Given the description of an element on the screen output the (x, y) to click on. 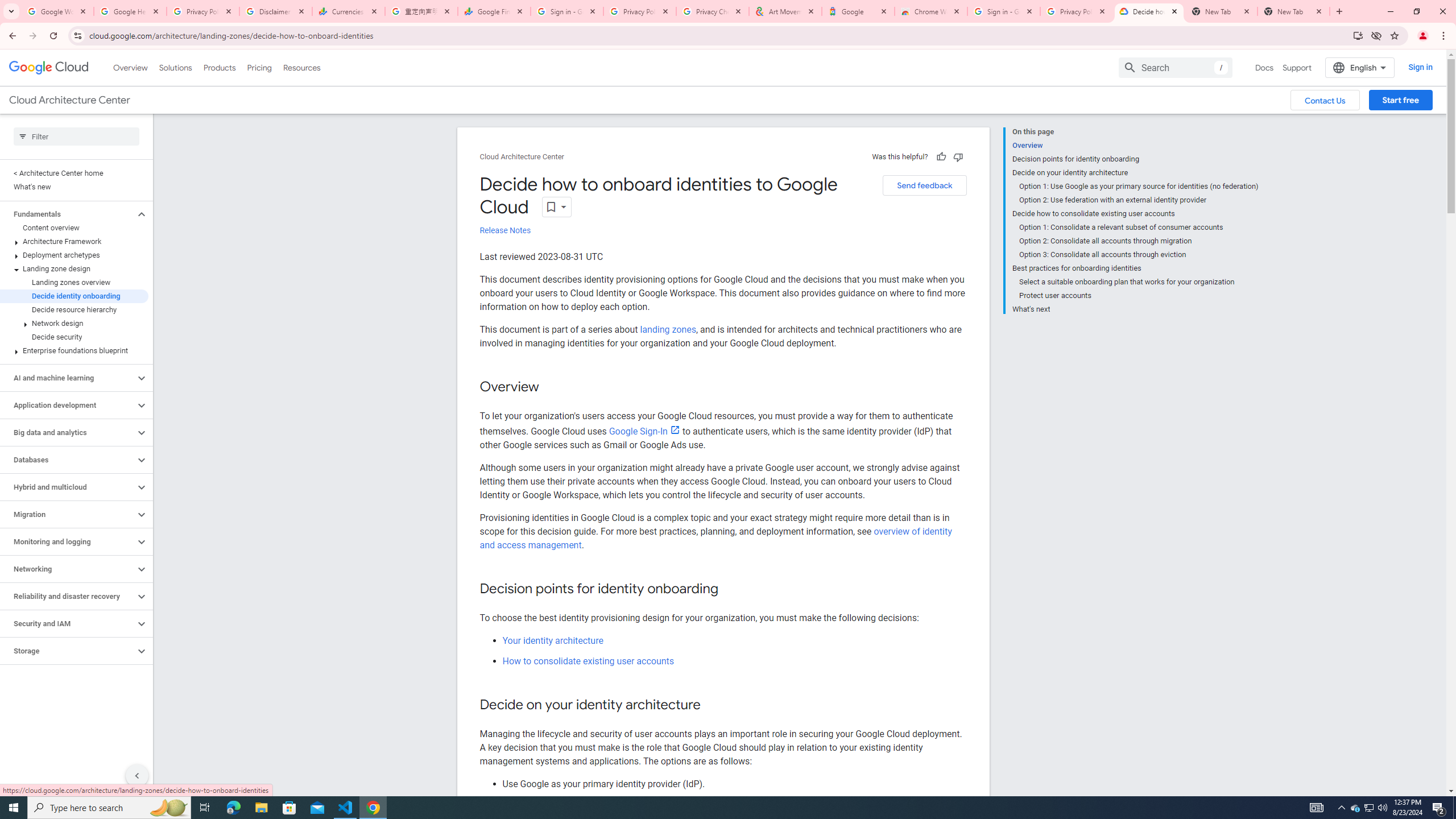
Start free (1400, 100)
How to consolidate existing user accounts (588, 661)
Protect user accounts (1138, 295)
Cloud Architecture Center (521, 156)
landing zones (667, 329)
Release Notes (505, 230)
Decision points for identity onboarding (1134, 159)
Currencies - Google Finance (348, 11)
Landing zone design (74, 269)
Products (218, 67)
